Given the description of an element on the screen output the (x, y) to click on. 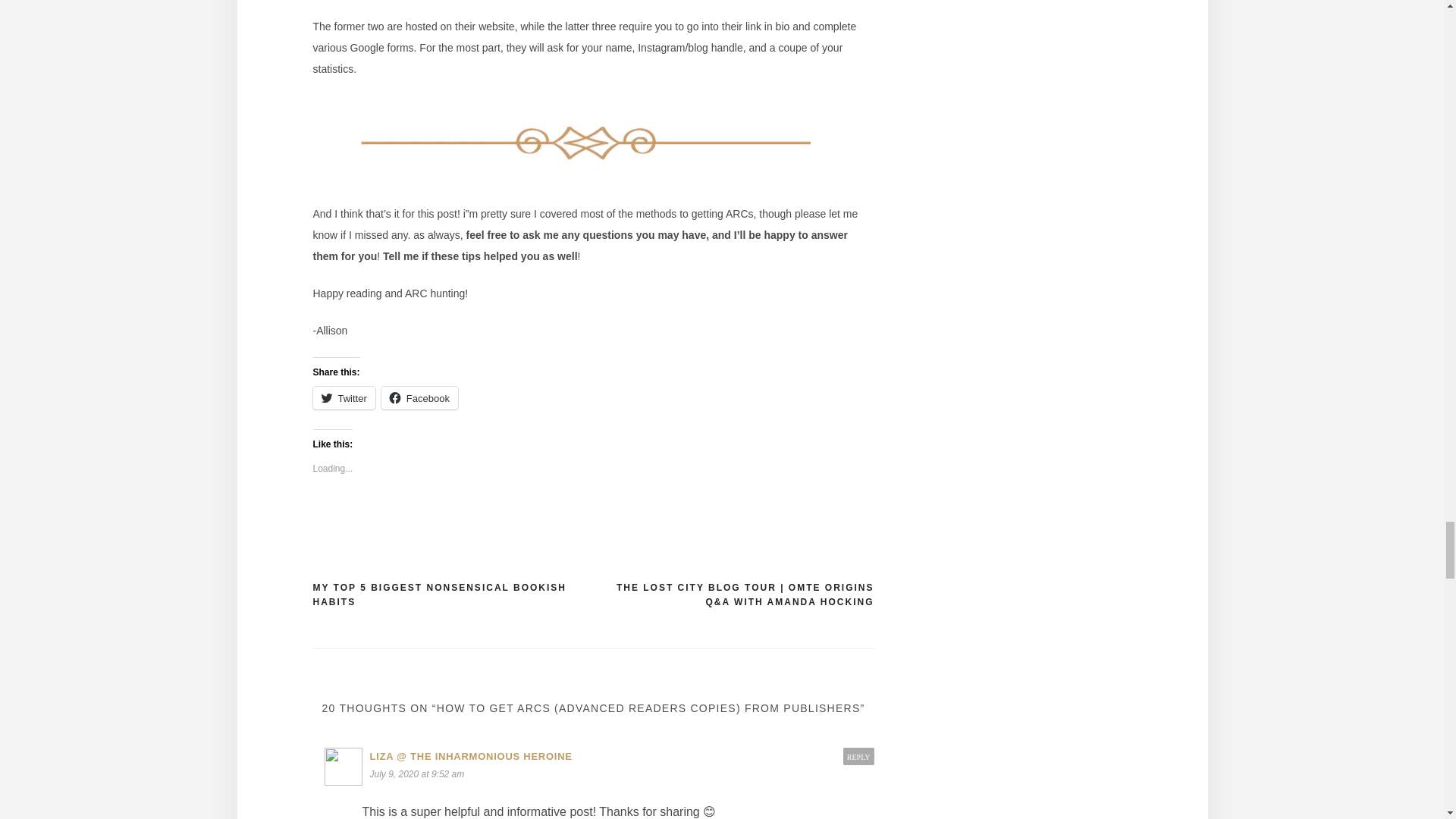
Click to share on Facebook (419, 397)
Facebook (419, 397)
MY TOP 5 BIGGEST NONSENSICAL BOOKISH HABITS (452, 595)
Click to share on Twitter (343, 397)
MLC Tours (352, 1)
Twitter (343, 397)
